Given the description of an element on the screen output the (x, y) to click on. 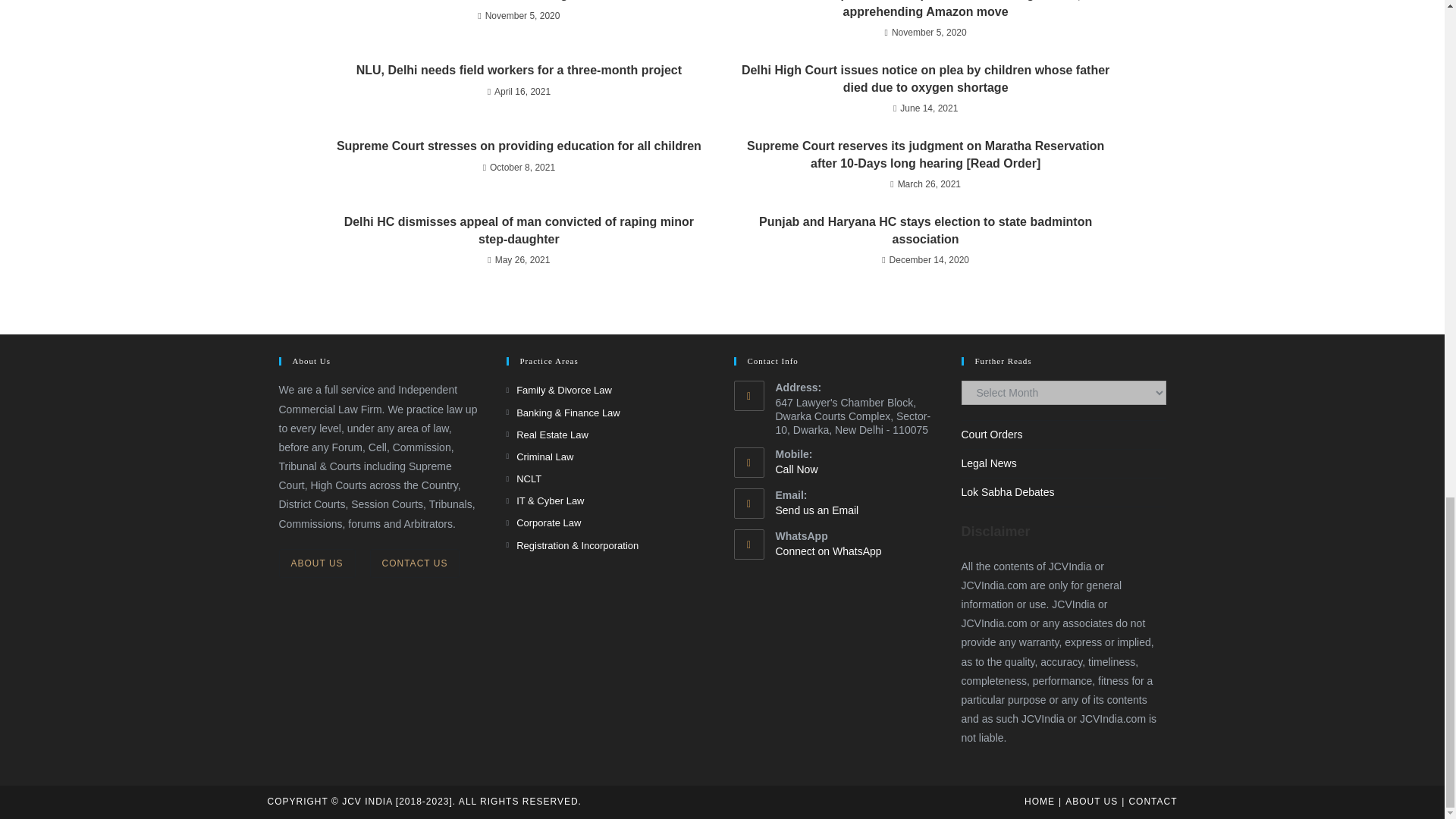
NLU, Delhi needs field workers for a three-month project (518, 70)
ABOUT US (317, 563)
CONTACT US (414, 563)
